Given the description of an element on the screen output the (x, y) to click on. 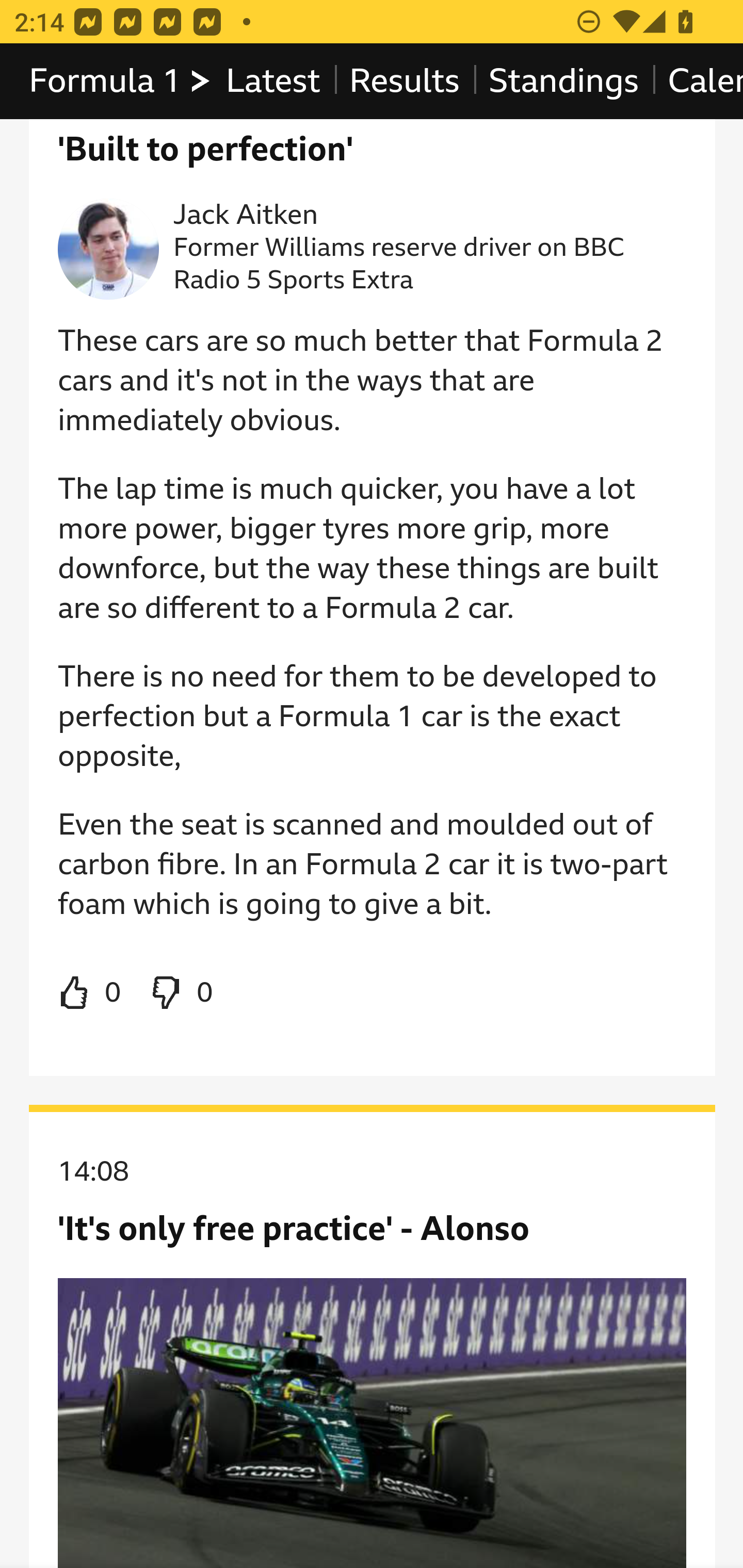
Like (89, 992)
Dislike (180, 992)
